Given the description of an element on the screen output the (x, y) to click on. 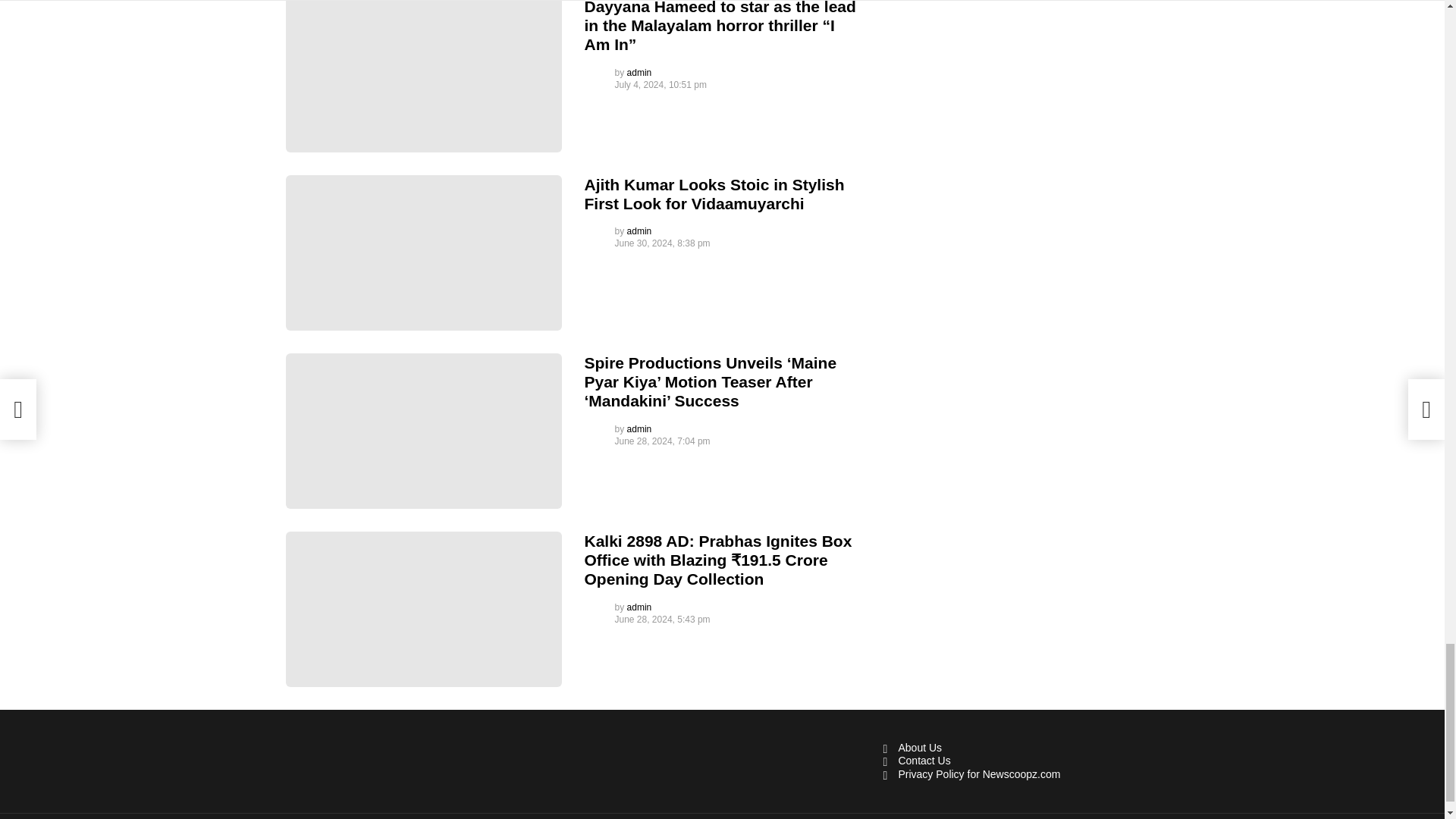
Posts by admin (639, 72)
